Given the description of an element on the screen output the (x, y) to click on. 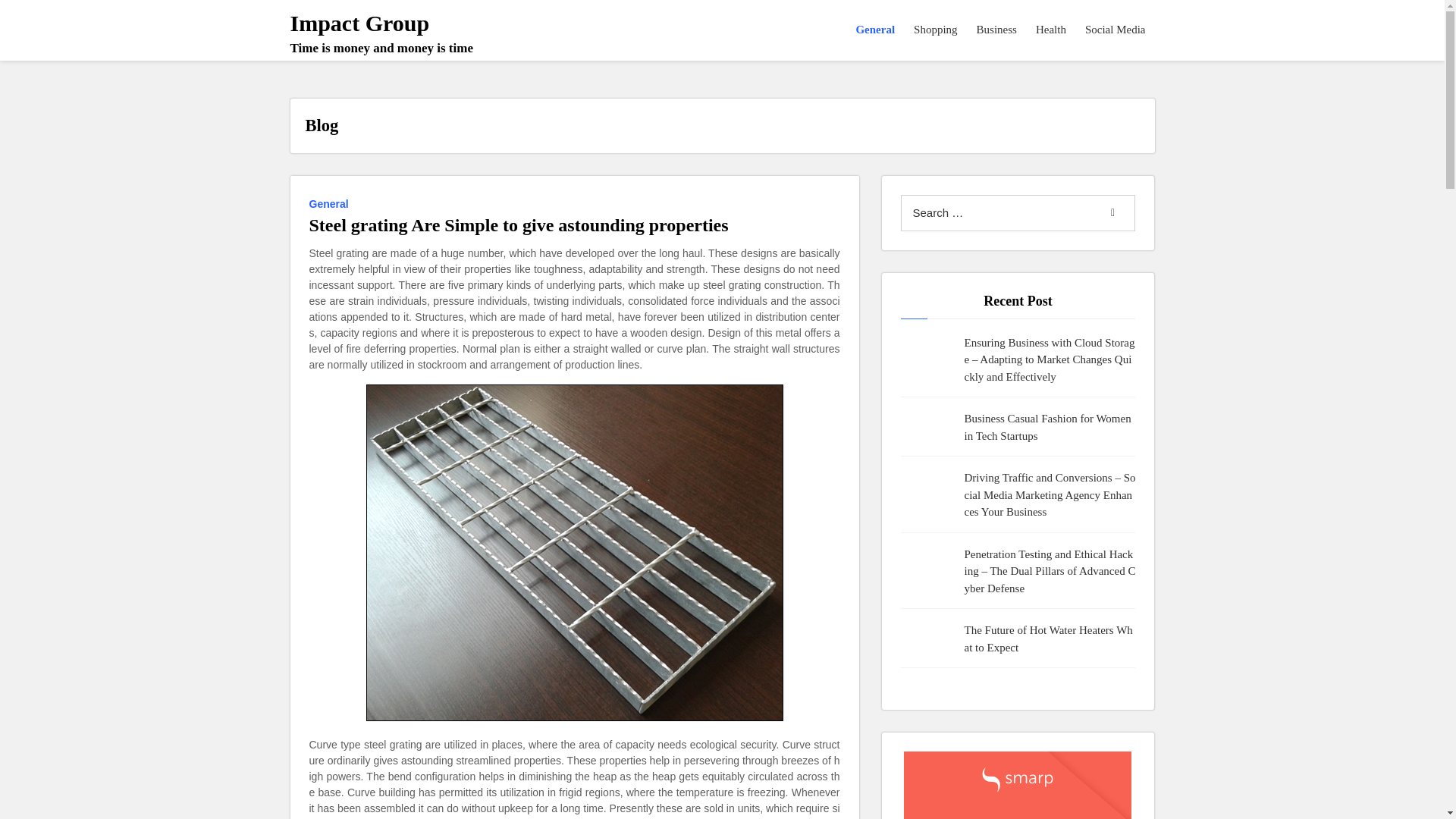
Business (997, 29)
Business Casual Fashion for Women in Tech Startups (1049, 427)
Social Media (380, 32)
Social Media (1115, 29)
Shopping (1115, 29)
Shopping (936, 29)
Business (936, 29)
General (997, 29)
General (874, 29)
